Given the description of an element on the screen output the (x, y) to click on. 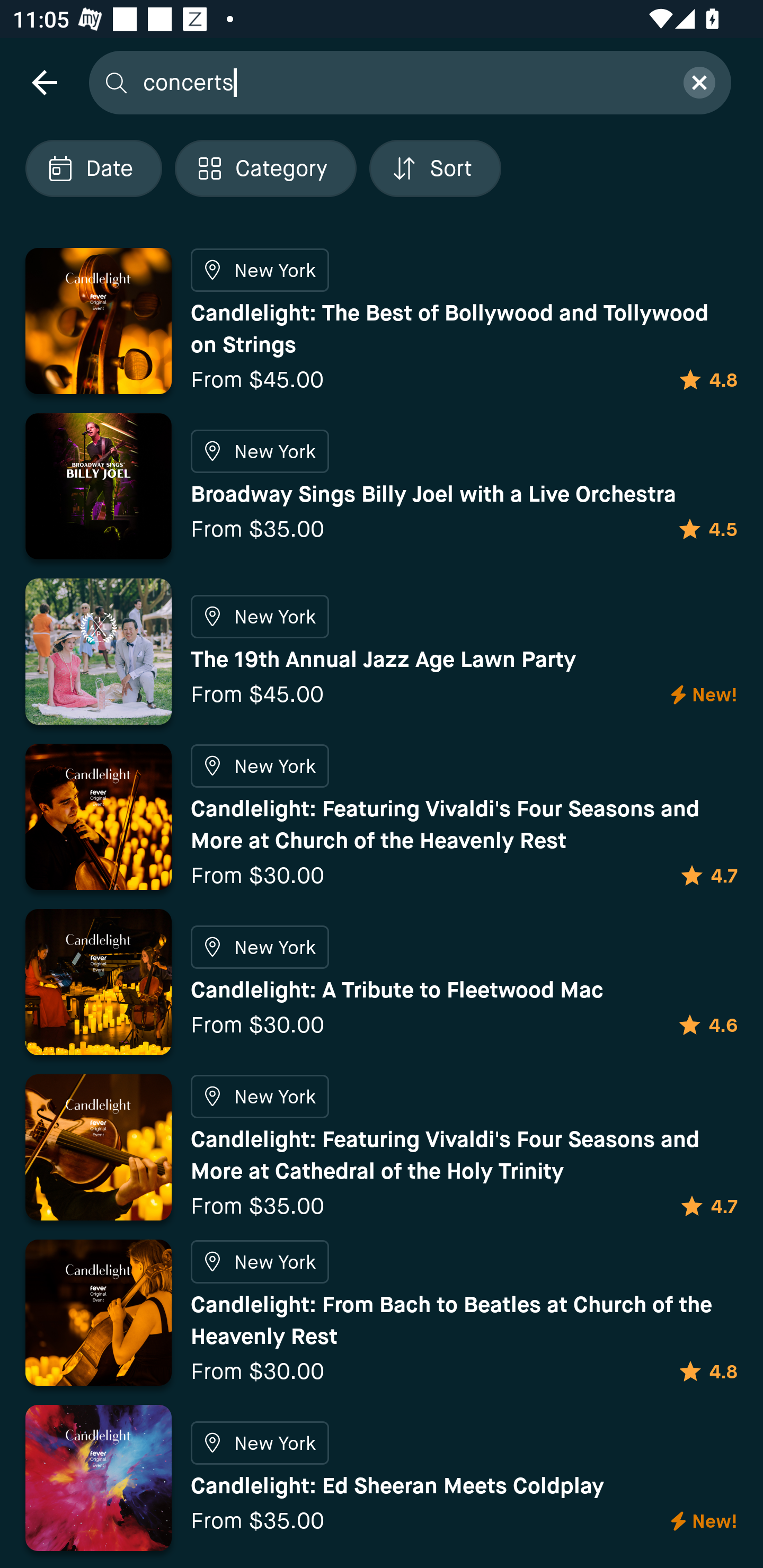
navigation icon (44, 81)
concerts (402, 81)
Localized description Date (93, 168)
Localized description Category (265, 168)
Localized description Sort (435, 168)
